Given the description of an element on the screen output the (x, y) to click on. 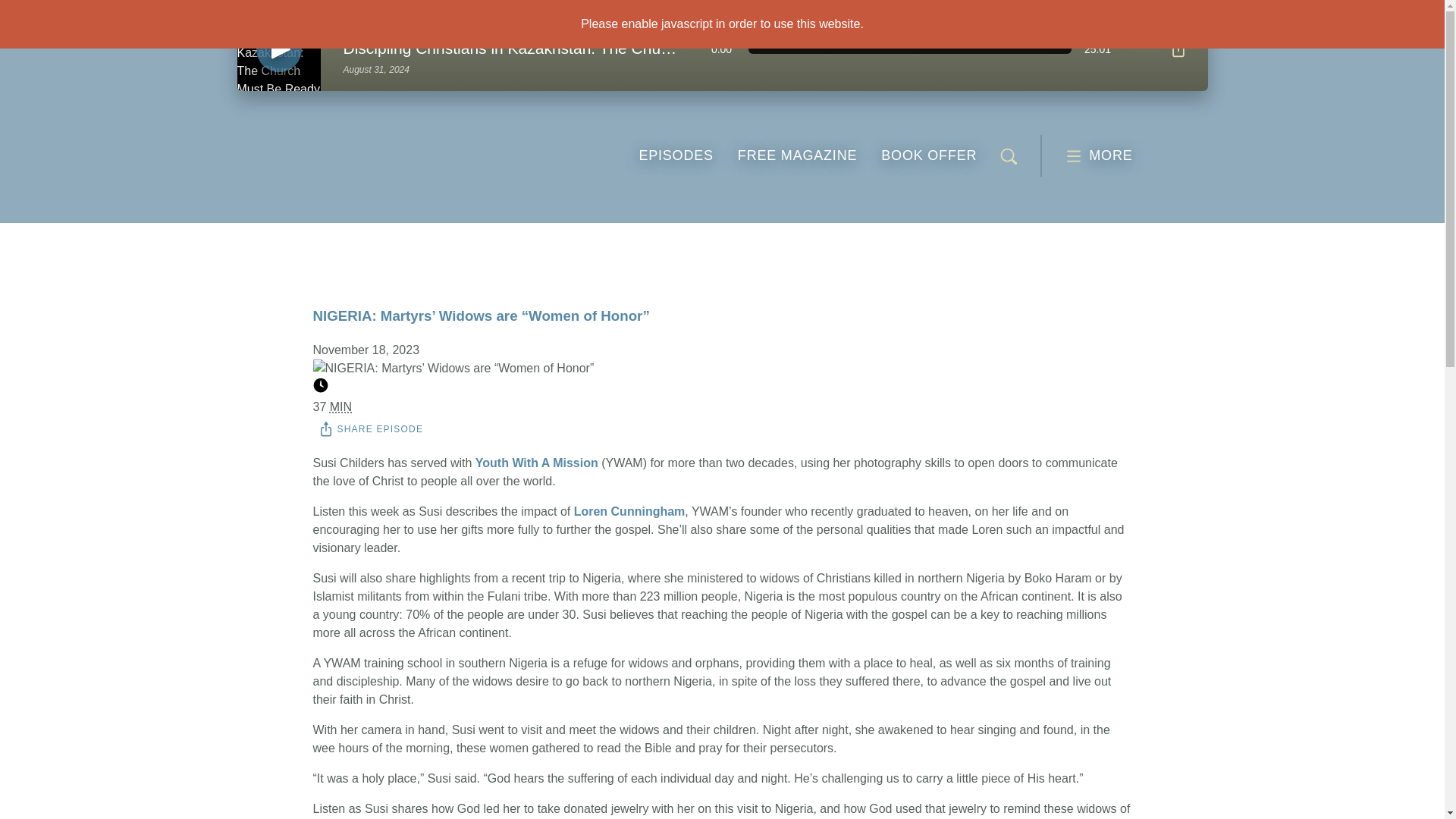
MORE (1098, 155)
Youth With A Mission (537, 462)
EPISODES (1176, 49)
Loren Cunningham (675, 155)
BOOK OFFER (371, 428)
minutes (629, 511)
VOM Radio (928, 155)
